Given the description of an element on the screen output the (x, y) to click on. 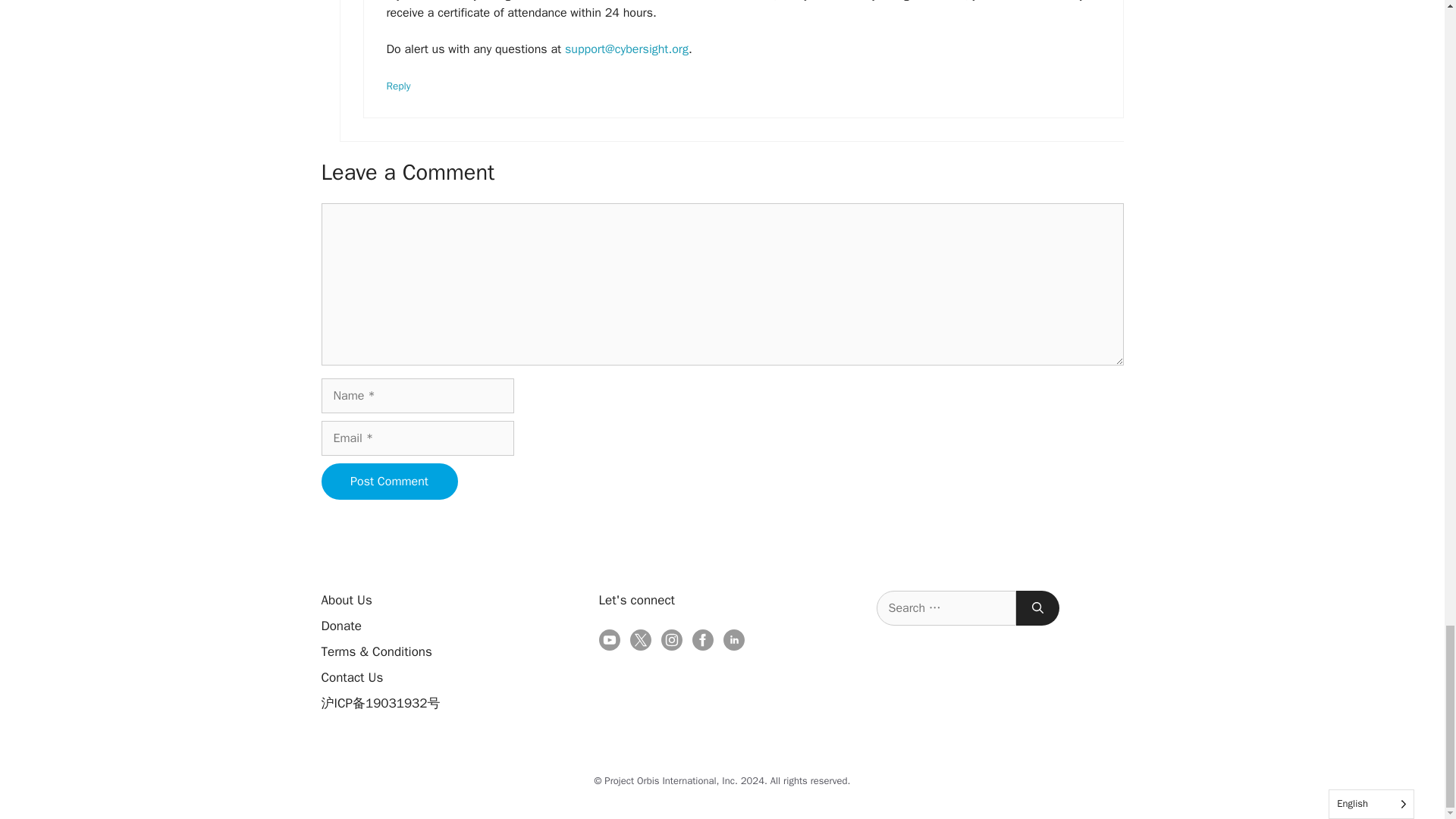
Search for: (946, 607)
Post Comment (389, 481)
Post Comment (389, 481)
Donate (341, 625)
About Us (346, 600)
Reply (398, 85)
